Given the description of an element on the screen output the (x, y) to click on. 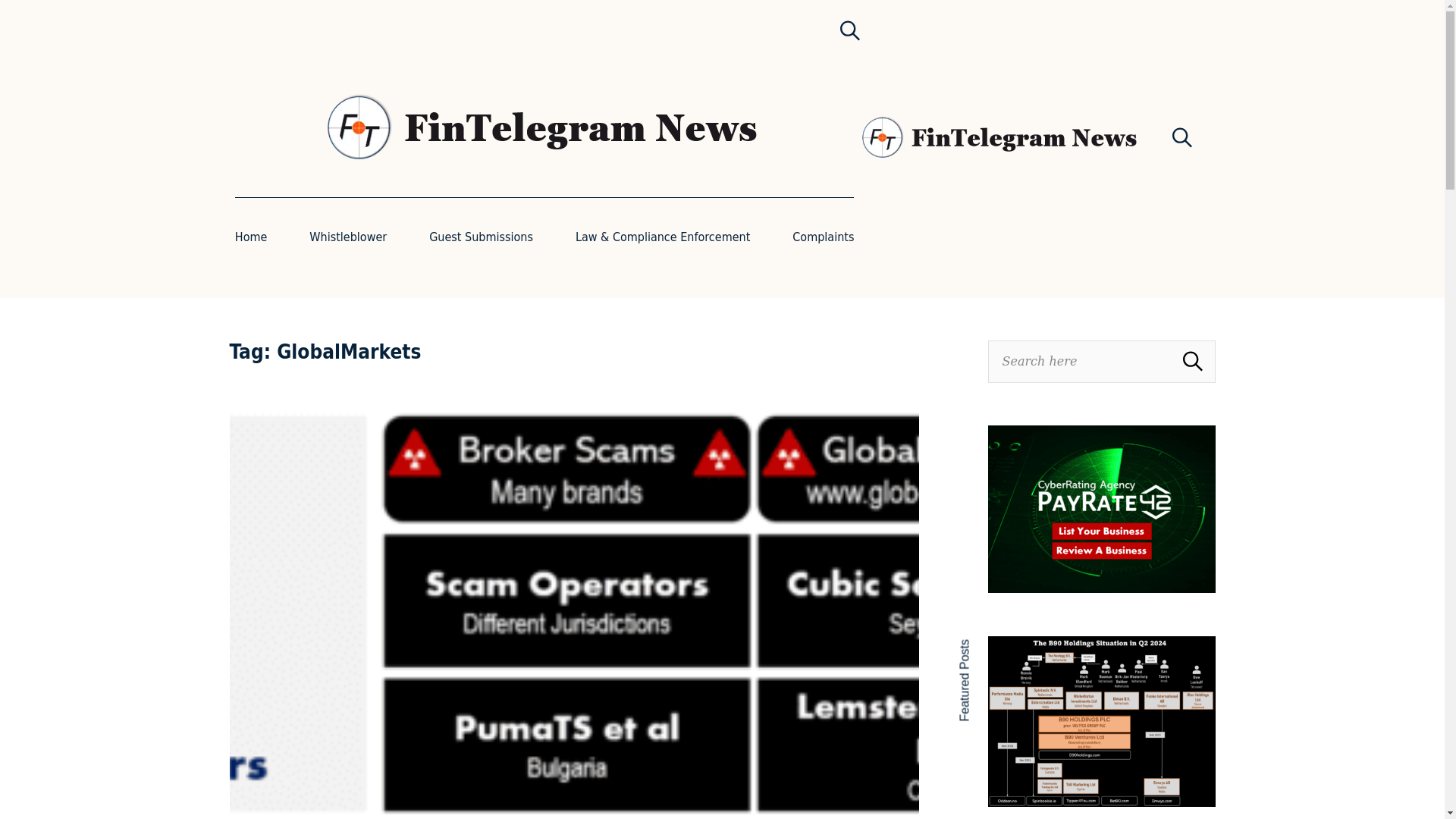
Search (1182, 137)
Whistleblower (347, 237)
Guest Submissions (480, 237)
Search (850, 29)
